Given the description of an element on the screen output the (x, y) to click on. 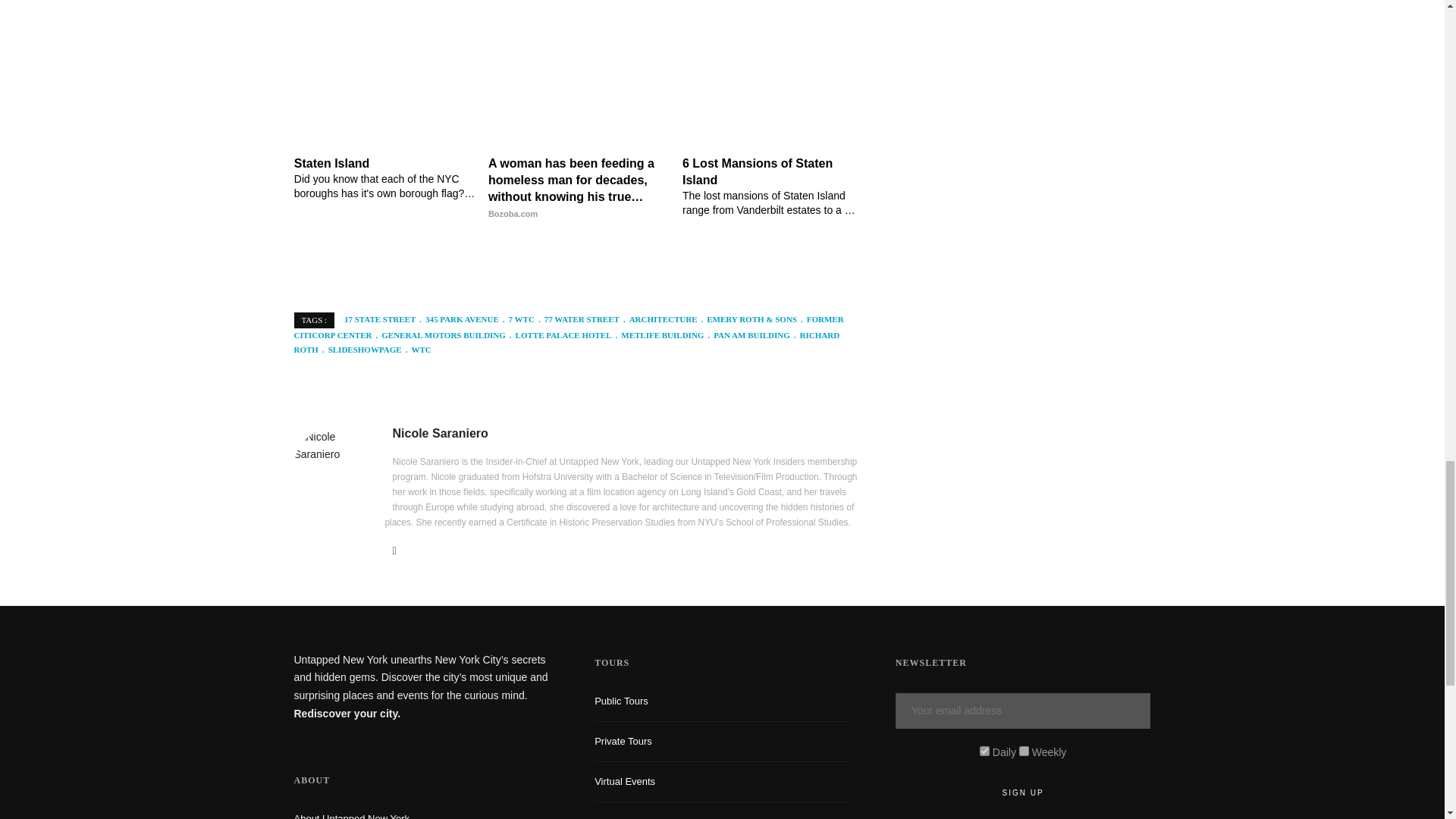
Sign up (1023, 792)
e99a09560c (984, 750)
7cff6a70fd (1024, 750)
